Given the description of an element on the screen output the (x, y) to click on. 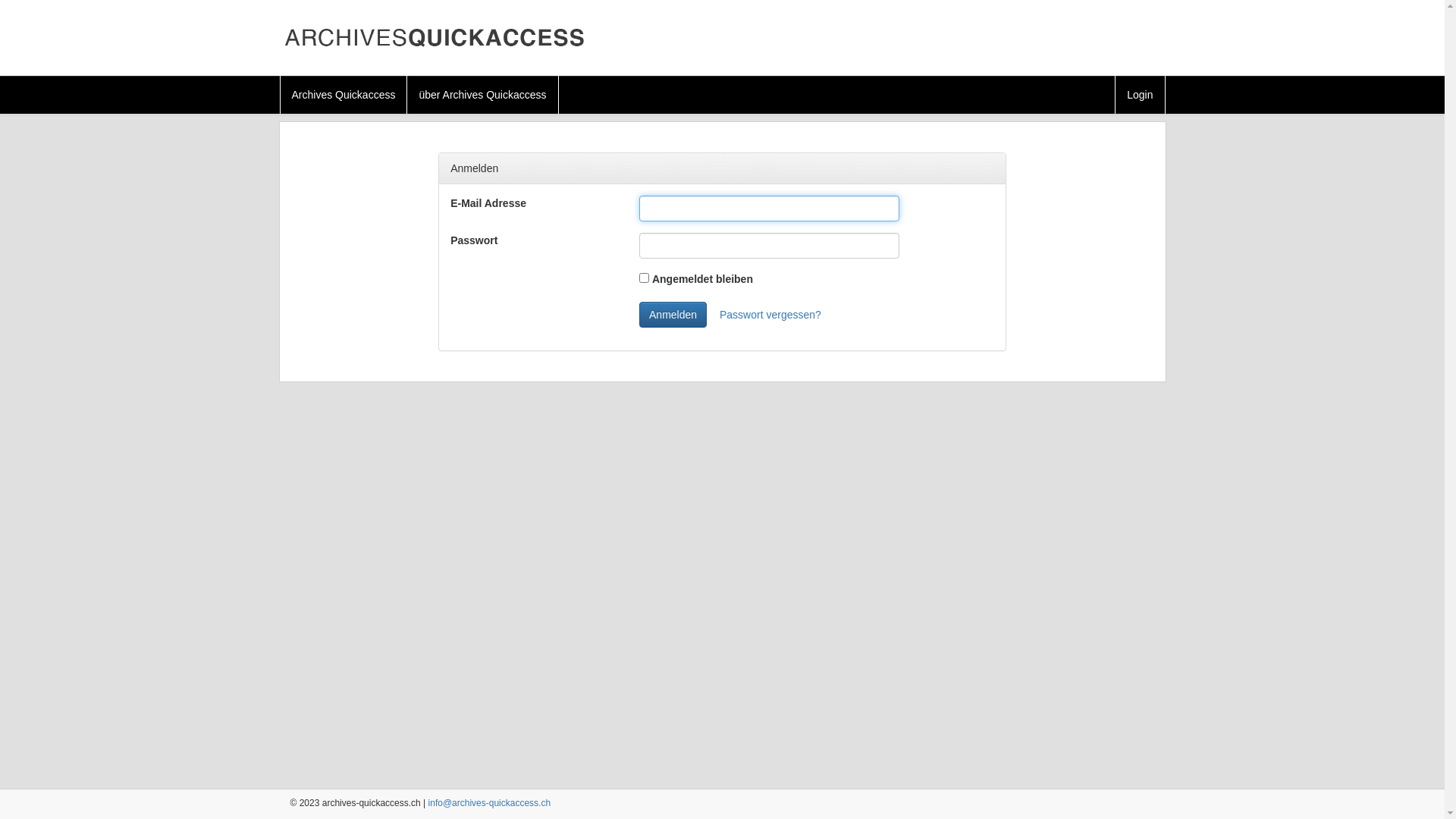
Archives Quickaccess Element type: text (343, 94)
Anmelden Element type: text (672, 314)
Passwort vergessen? Element type: text (770, 314)
Archives Quickaccess Element type: hover (433, 37)
info@archives-quickaccess.ch Element type: text (489, 802)
Login Element type: text (1139, 94)
